Given the description of an element on the screen output the (x, y) to click on. 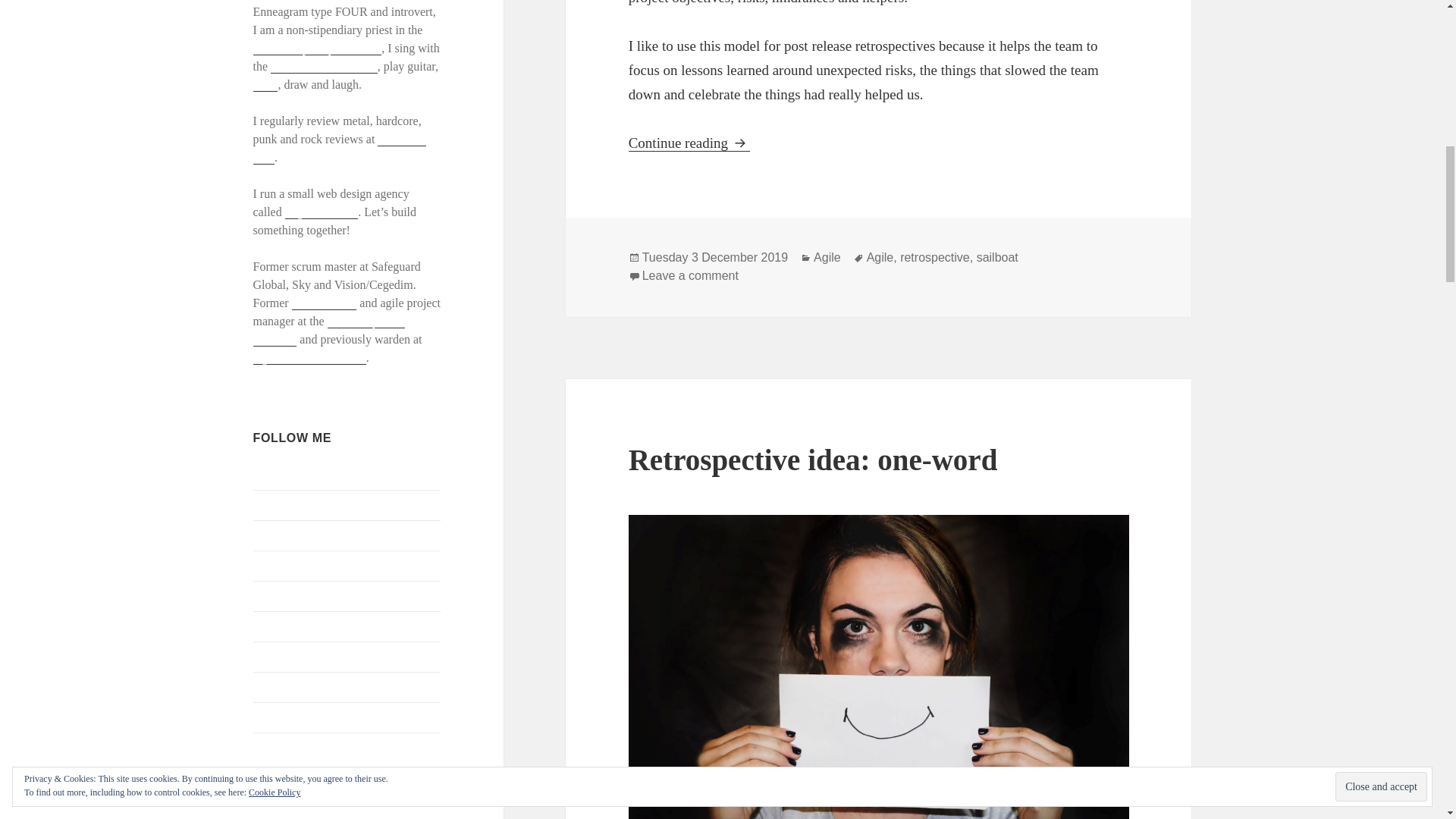
195 metal CDs (339, 148)
Bluesky (272, 473)
NYCGB alumni choir (323, 66)
web architect (324, 303)
Slideshare (278, 686)
SoundCloud (283, 716)
Mastodon.scot (288, 625)
Scottish Episcopal Church (317, 48)
GitHub (271, 534)
Agnes Blackadder Hall (309, 357)
